Given the description of an element on the screen output the (x, y) to click on. 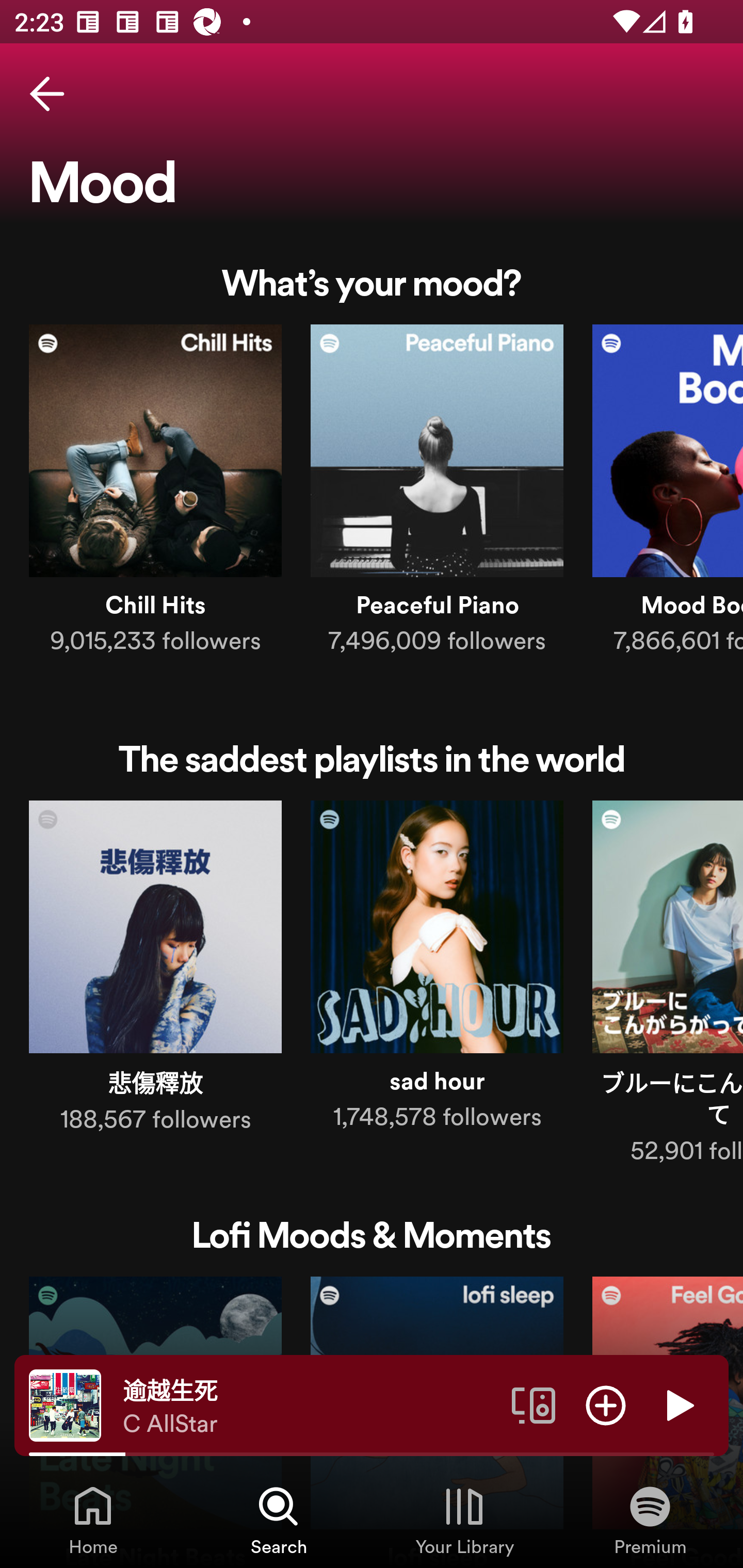
Back (46, 93)
悲傷釋放
188,567 followers 悲傷釋放 188,567 followers (154, 971)
逾越生死 C AllStar (309, 1405)
The cover art of the currently playing track (64, 1404)
Connect to a device. Opens the devices menu (533, 1404)
Add item (605, 1404)
Play (677, 1404)
Home, Tab 1 of 4 Home Home (92, 1519)
Search, Tab 2 of 4 Search Search (278, 1519)
Your Library, Tab 3 of 4 Your Library Your Library (464, 1519)
Premium, Tab 4 of 4 Premium Premium (650, 1519)
